Given the description of an element on the screen output the (x, y) to click on. 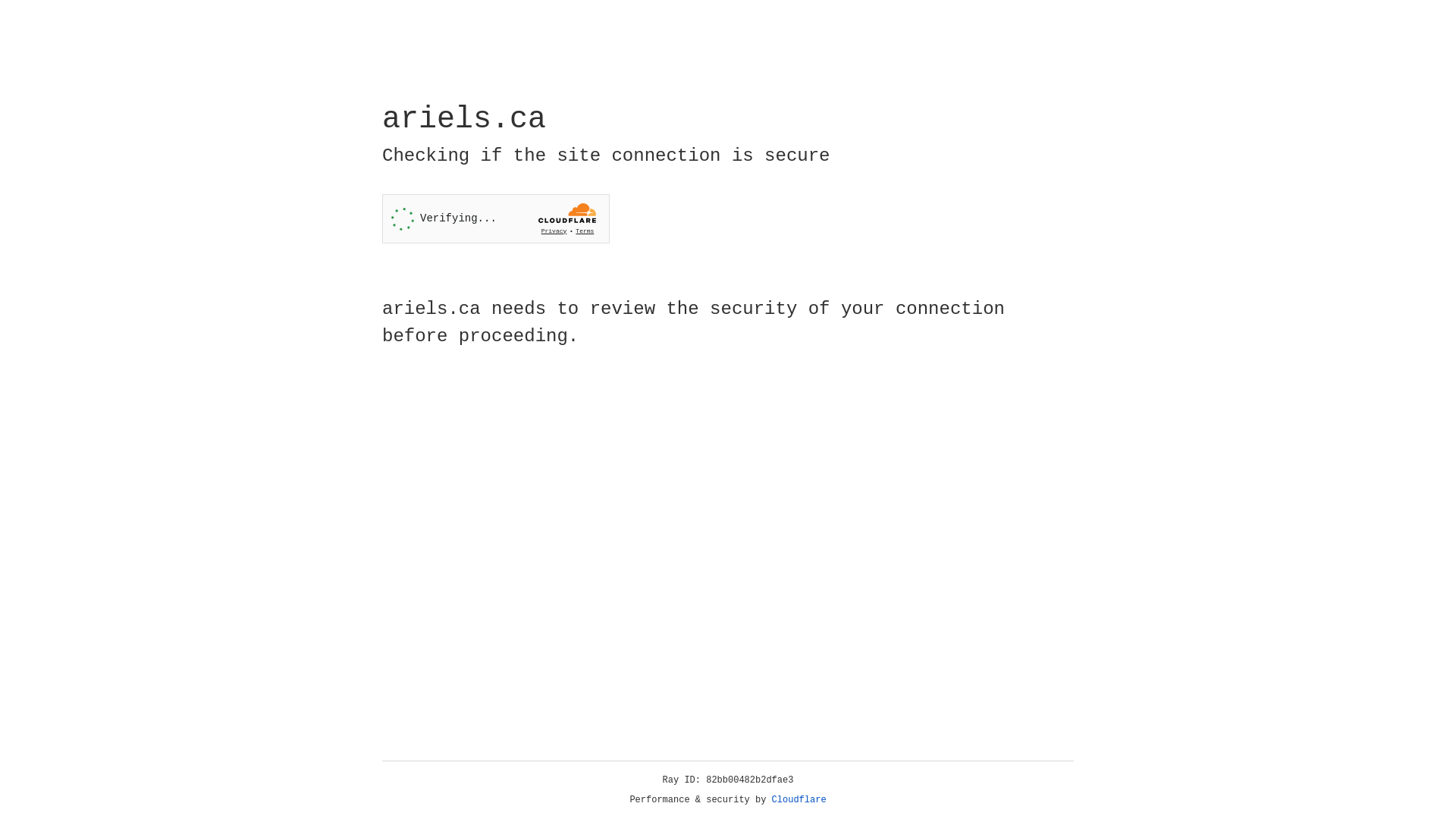
Widget containing a Cloudflare security challenge Element type: hover (495, 218)
Cloudflare Element type: text (798, 799)
